Given the description of an element on the screen output the (x, y) to click on. 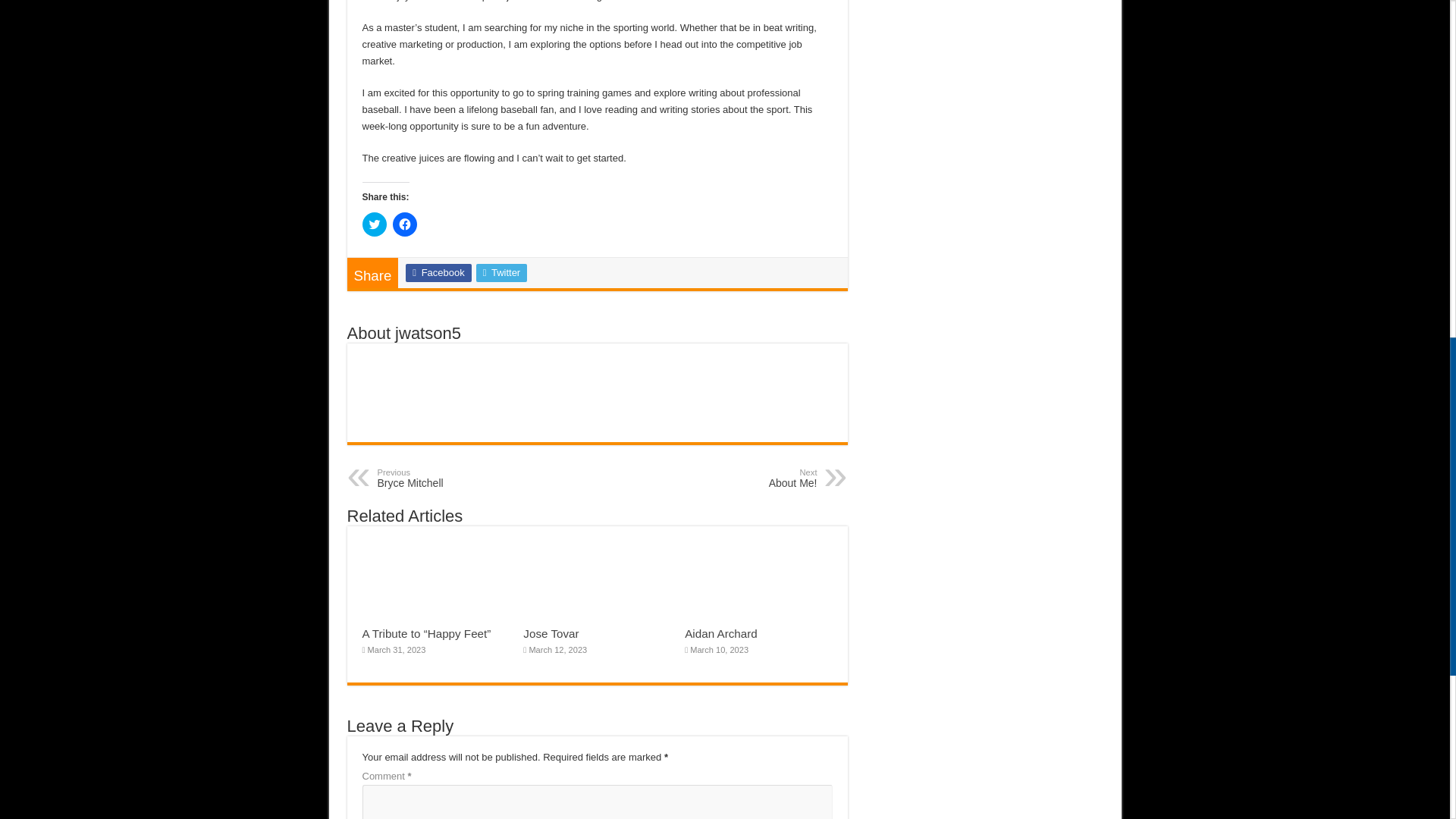
Scroll To Top (1427, 60)
Click to share on Twitter (374, 224)
Facebook (438, 272)
Twitter (501, 272)
Click to share on Facebook (454, 477)
